Given the description of an element on the screen output the (x, y) to click on. 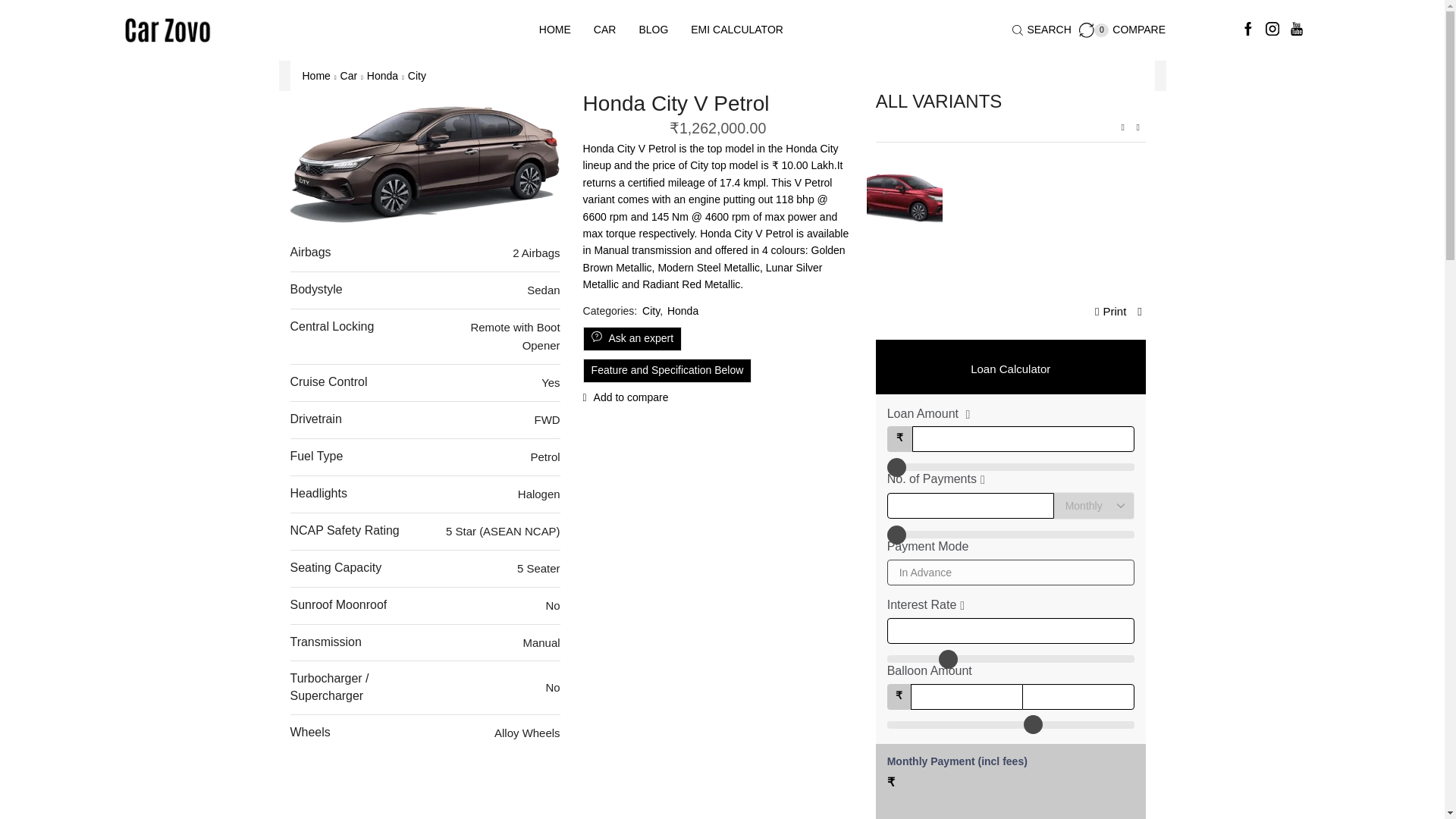
Honda City SV Petrol (904, 194)
4.5 (1010, 658)
city v (424, 158)
EMI CALCULATOR (736, 30)
30 (1010, 724)
BLOG (653, 30)
12 (1010, 534)
10000 (1010, 466)
CAR (1122, 29)
